Given the description of an element on the screen output the (x, y) to click on. 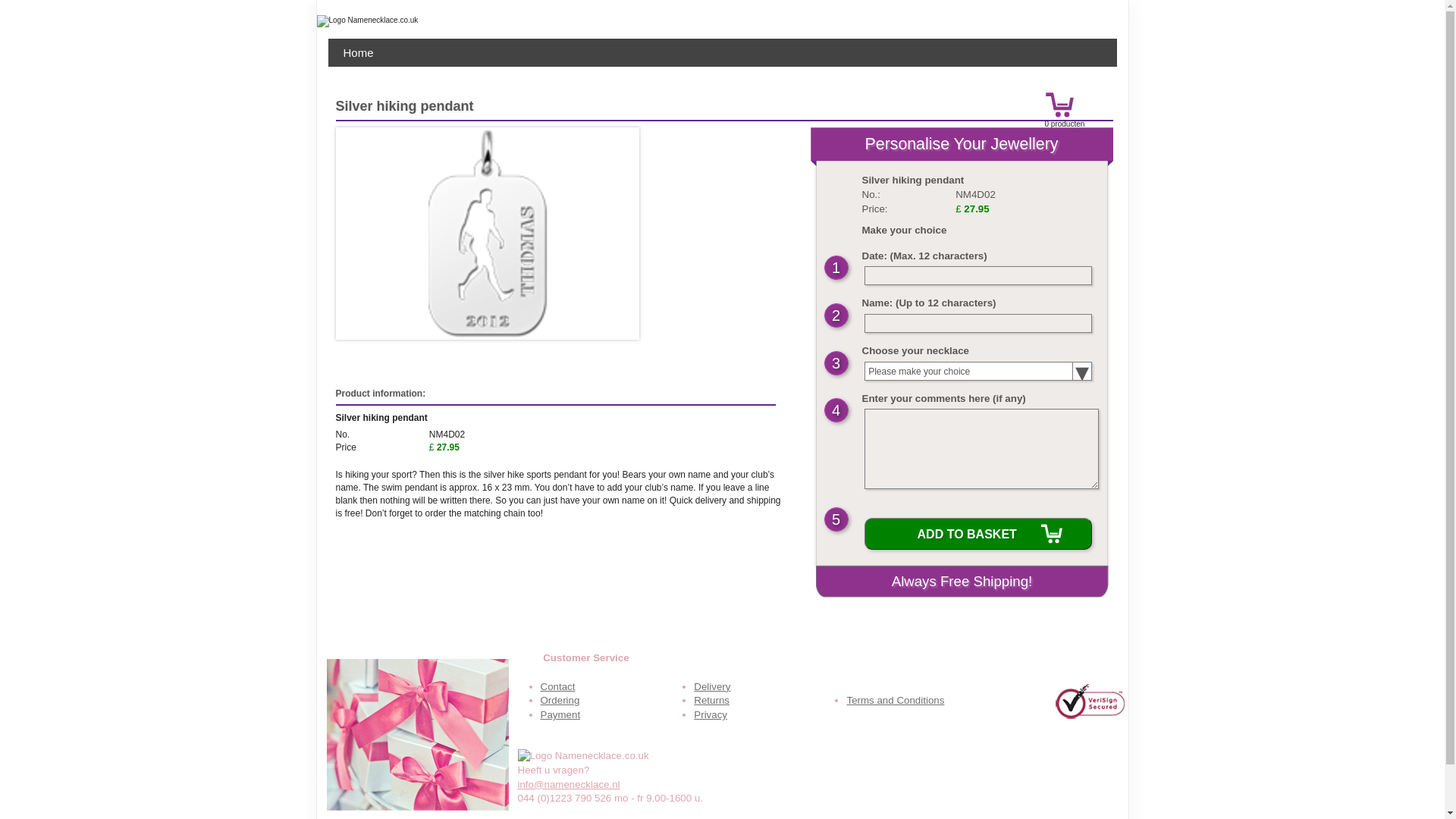
Contact (557, 686)
Home (357, 52)
Payment (559, 714)
Silver hiking pendant (486, 233)
Privacy (710, 714)
Ordering (559, 699)
Delivery (712, 686)
Returns (711, 699)
